Given the description of an element on the screen output the (x, y) to click on. 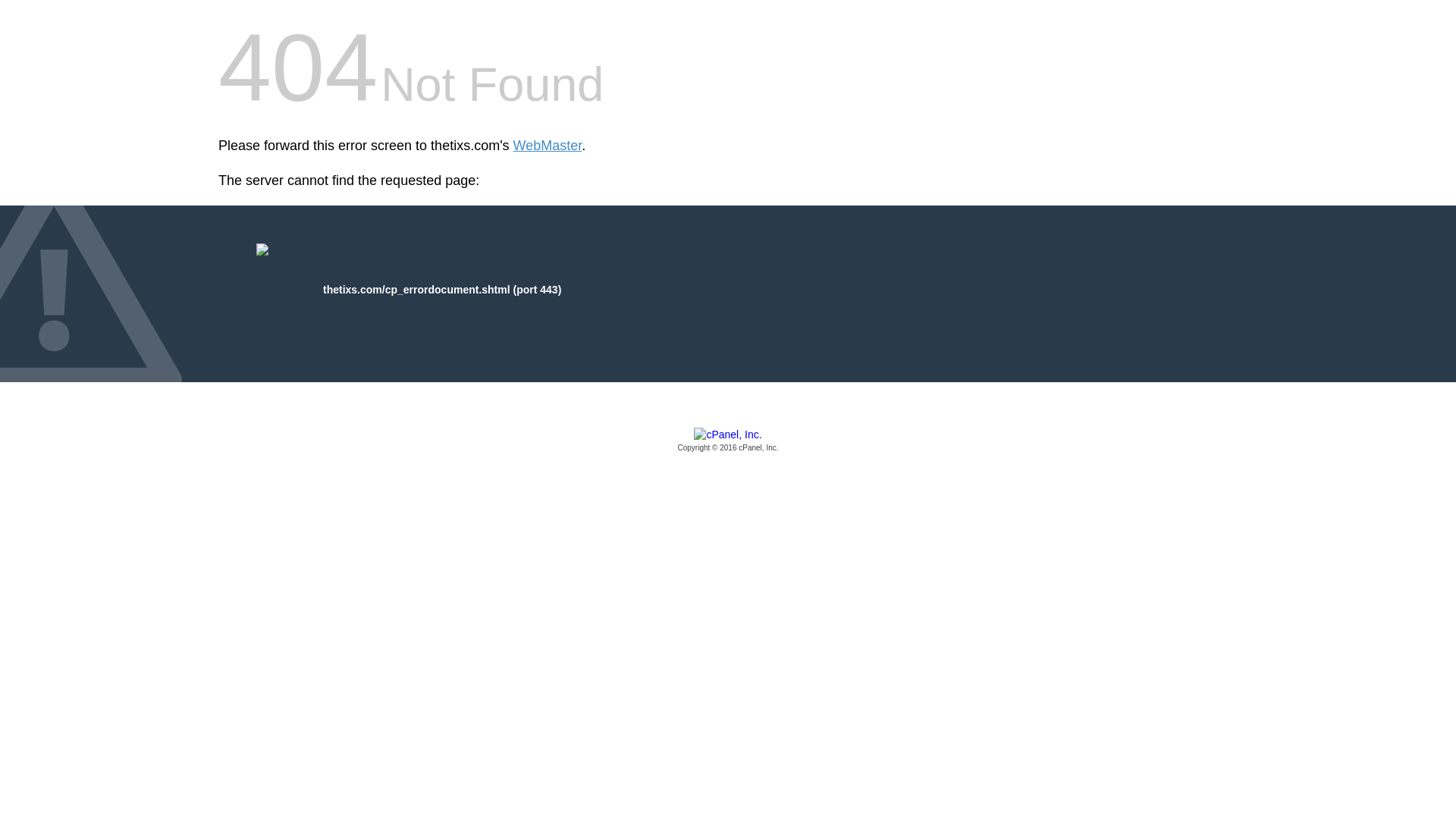
WebMaster (547, 145)
cPanel, Inc. (727, 440)
